Given the description of an element on the screen output the (x, y) to click on. 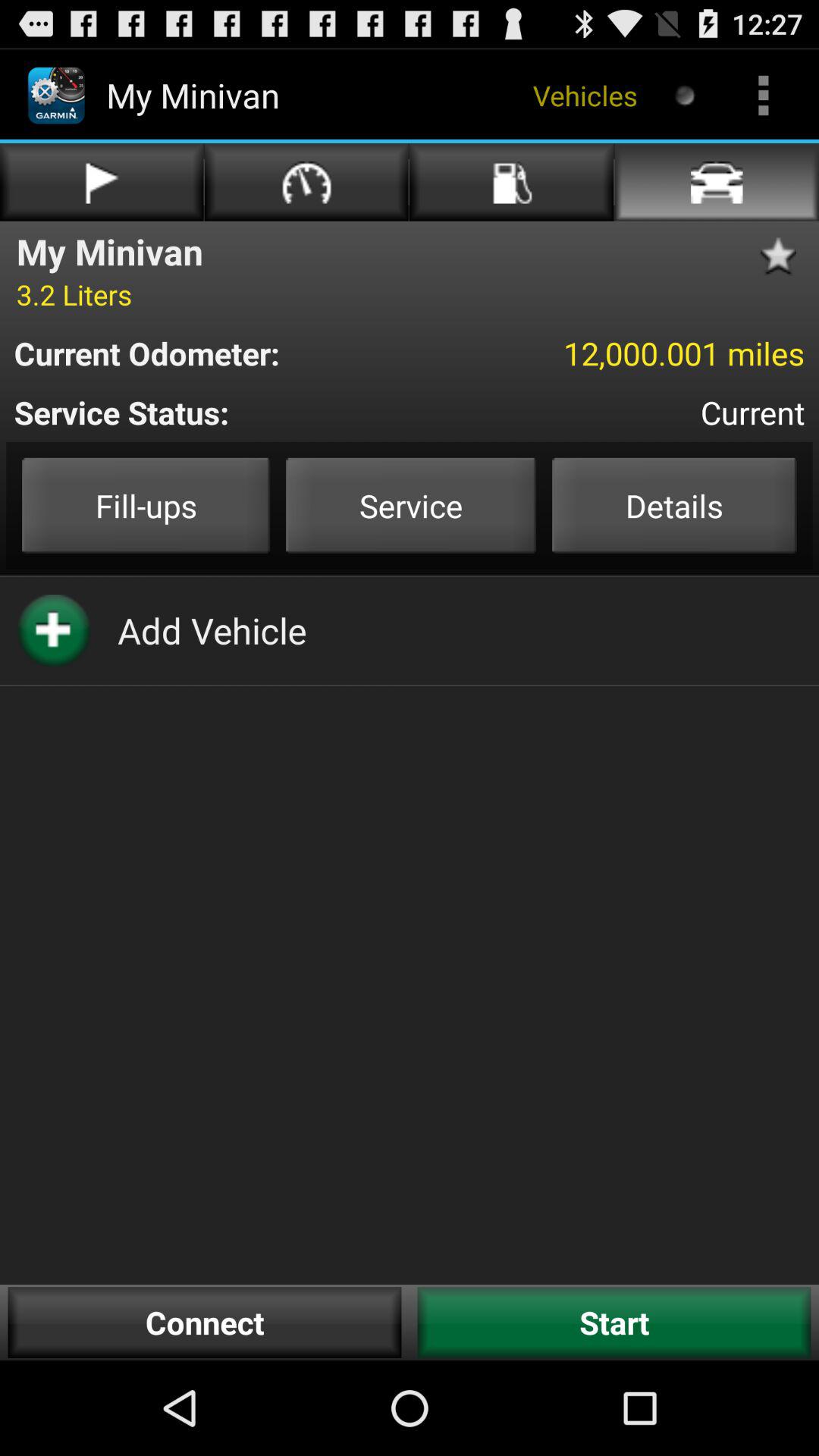
open app below my minivan app (73, 294)
